Given the description of an element on the screen output the (x, y) to click on. 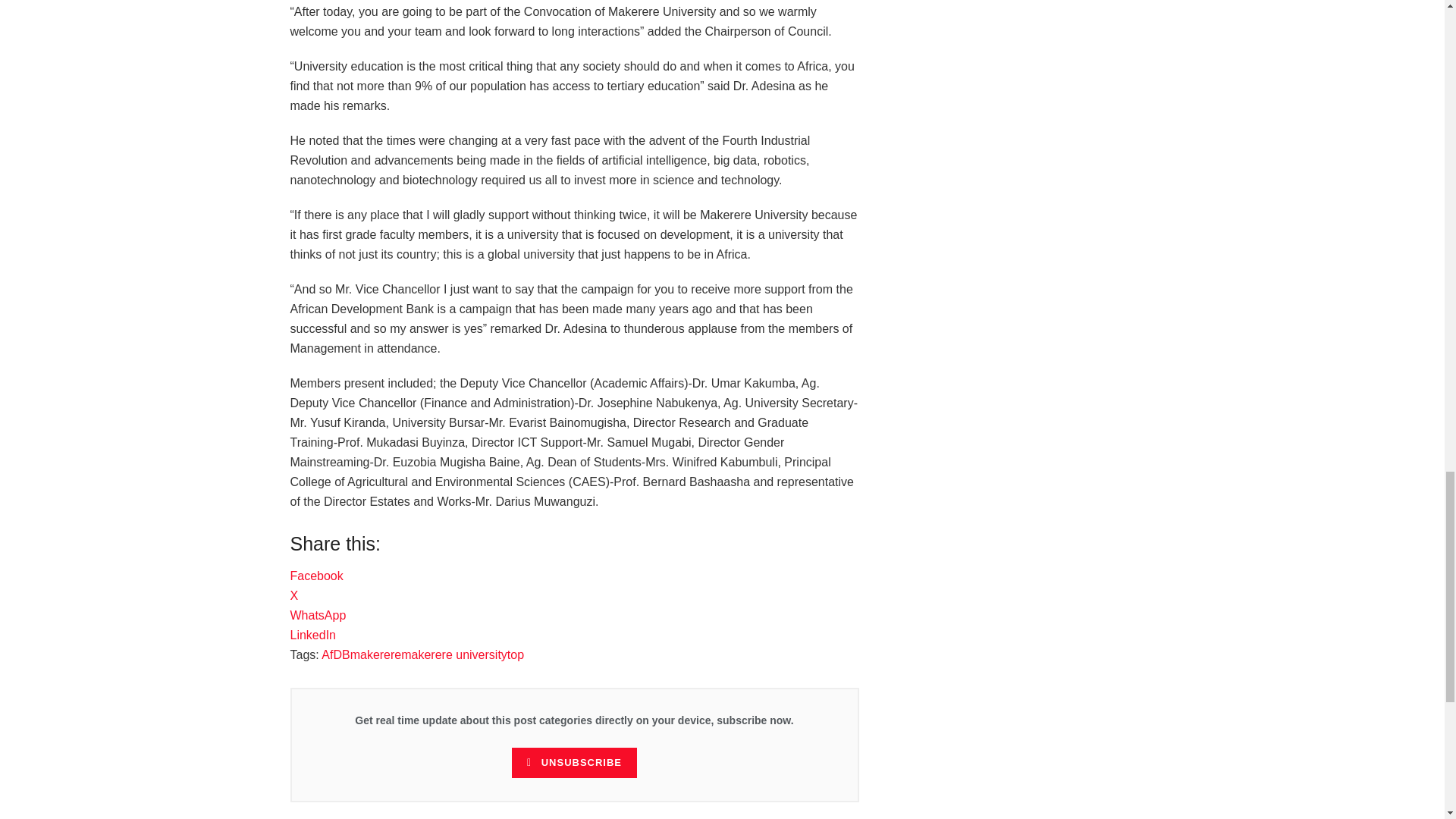
Click to share on WhatsApp (317, 615)
Click to share on LinkedIn (312, 634)
Click to share on Facebook (315, 575)
Click to share on X (293, 594)
